Given the description of an element on the screen output the (x, y) to click on. 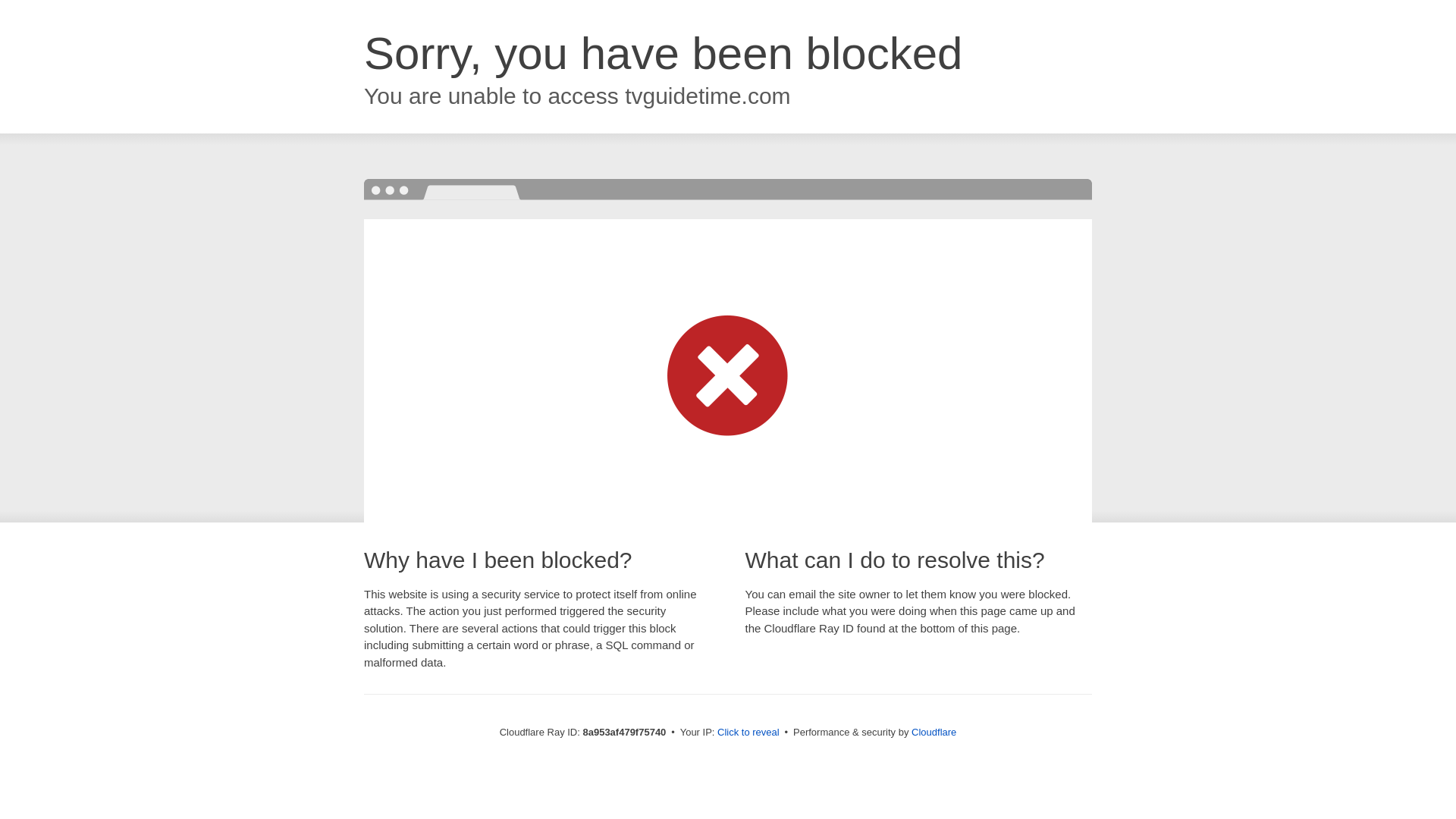
Click to reveal (747, 732)
Cloudflare (933, 731)
